Given the description of an element on the screen output the (x, y) to click on. 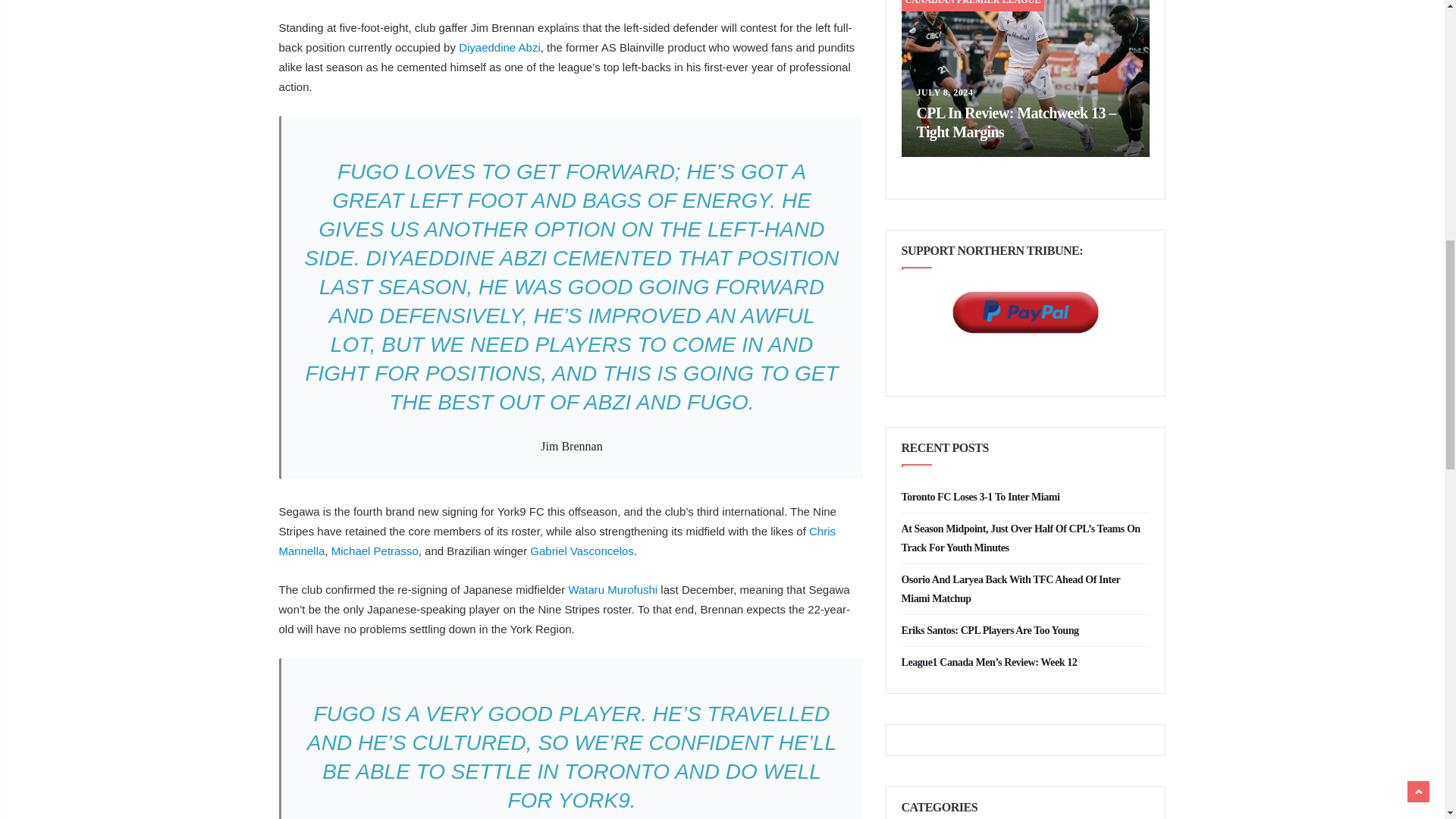
Diyaeddine Abzi (499, 47)
Gabriel Vasconcelos (581, 550)
Wataru Murofushi (612, 589)
Chris Mannella (557, 540)
Michael Petrasso (375, 550)
